Given the description of an element on the screen output the (x, y) to click on. 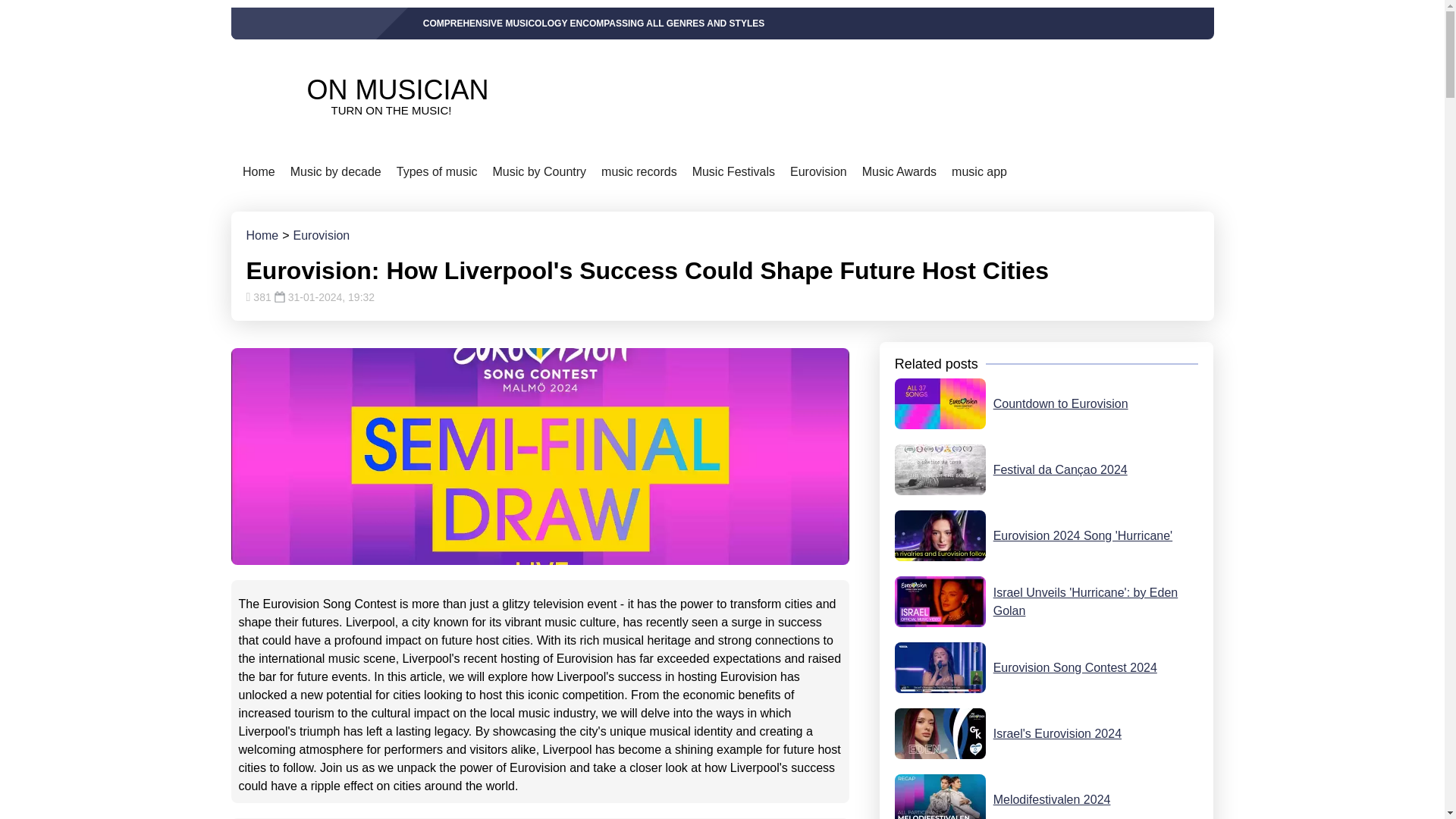
Types of music (436, 173)
Music by decade (335, 173)
Home (353, 96)
Views (258, 173)
